Given the description of an element on the screen output the (x, y) to click on. 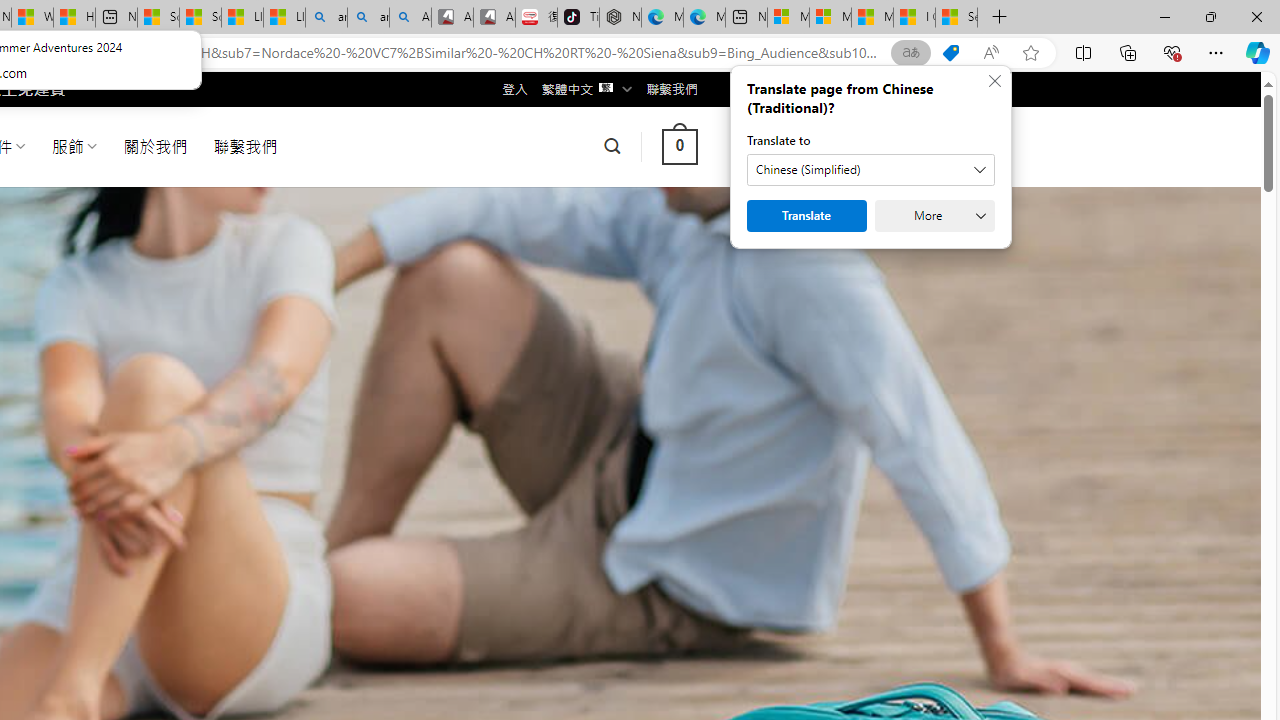
Translate to (870, 169)
 0  (679, 146)
I Gained 20 Pounds of Muscle in 30 Days! | Watch (914, 17)
Show translate options (910, 53)
